Given the description of an element on the screen output the (x, y) to click on. 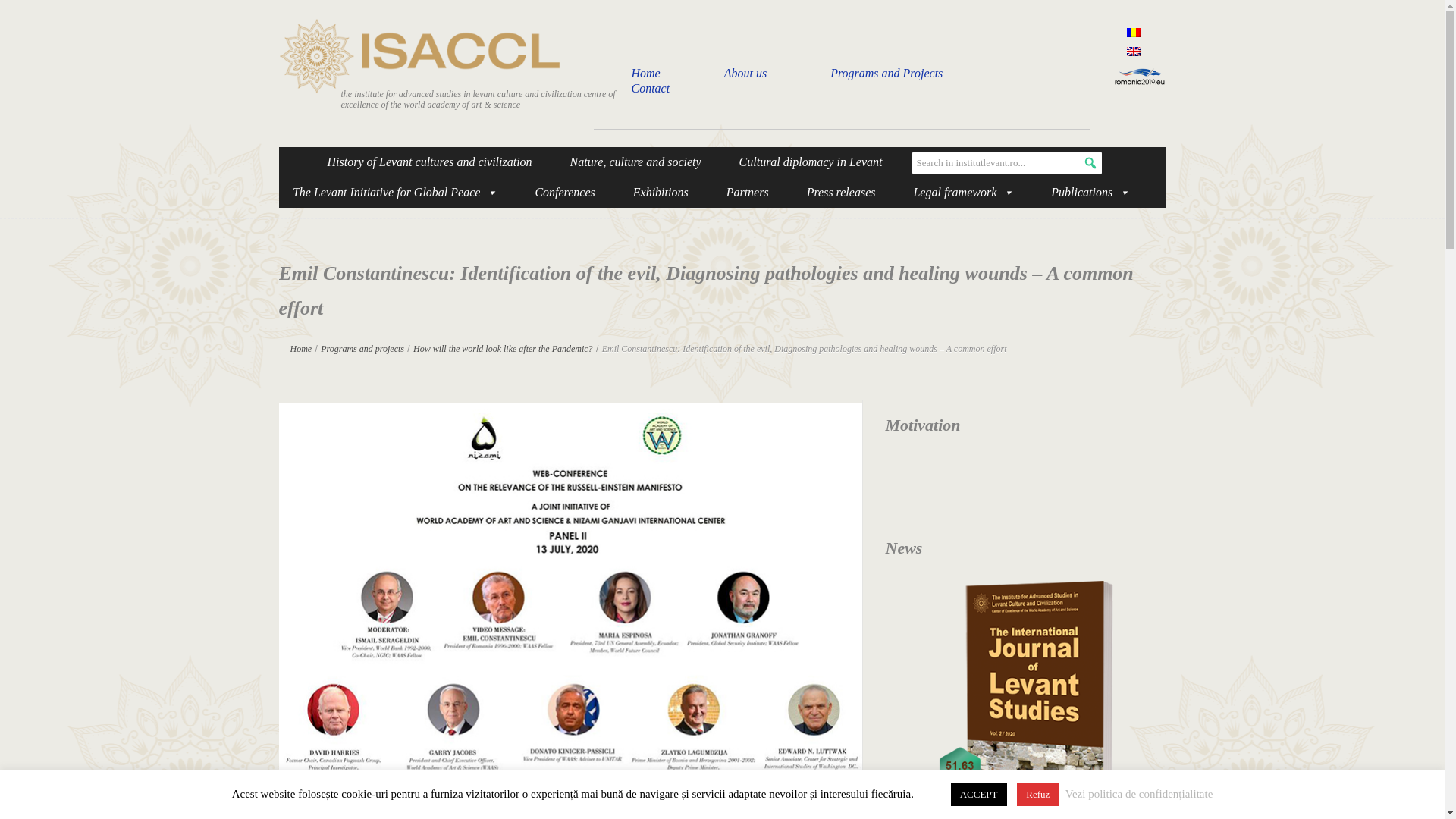
Cultural diplomacy in Levant (810, 162)
Press releases (841, 192)
Partners (747, 192)
History of Levant cultures and civilization (430, 162)
Programs and Projects (885, 73)
About us (745, 73)
Contact (649, 88)
Home (644, 73)
Nature, culture and society (635, 162)
Legal framework (962, 192)
Search (19, 10)
Publications (1090, 192)
Exhibitions (660, 192)
Conferences (564, 192)
